Given the description of an element on the screen output the (x, y) to click on. 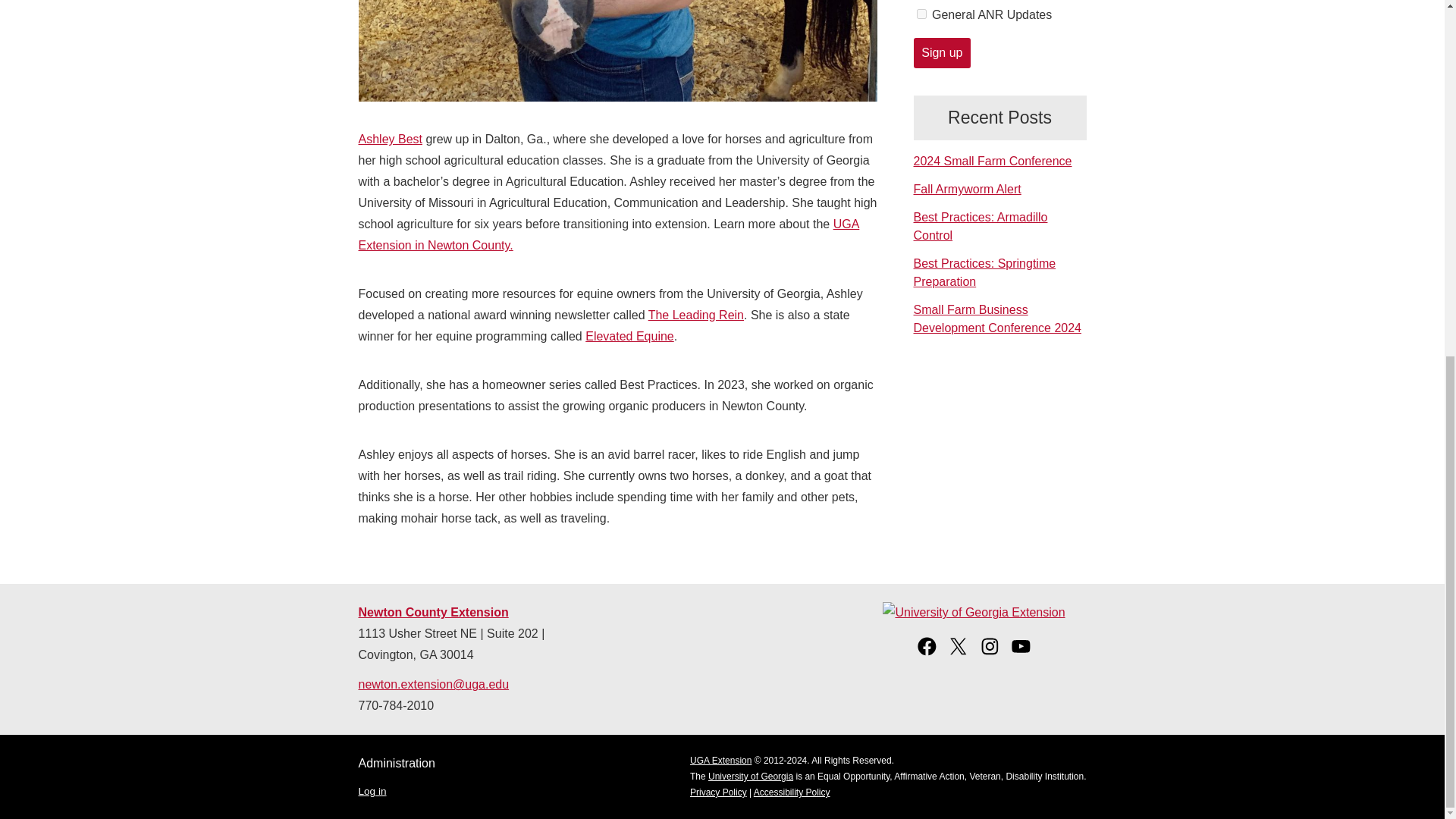
YouTube (1021, 653)
The Leading Rein (695, 314)
Ashley Best (390, 138)
Sign up (941, 52)
Instagram (989, 653)
Small Farm Business Development Conference 2024 (996, 318)
X (958, 653)
c2162a5f20 (920, 13)
Best Practices: Armadillo Control (979, 225)
2024 Small Farm Conference (991, 160)
